Given the description of an element on the screen output the (x, y) to click on. 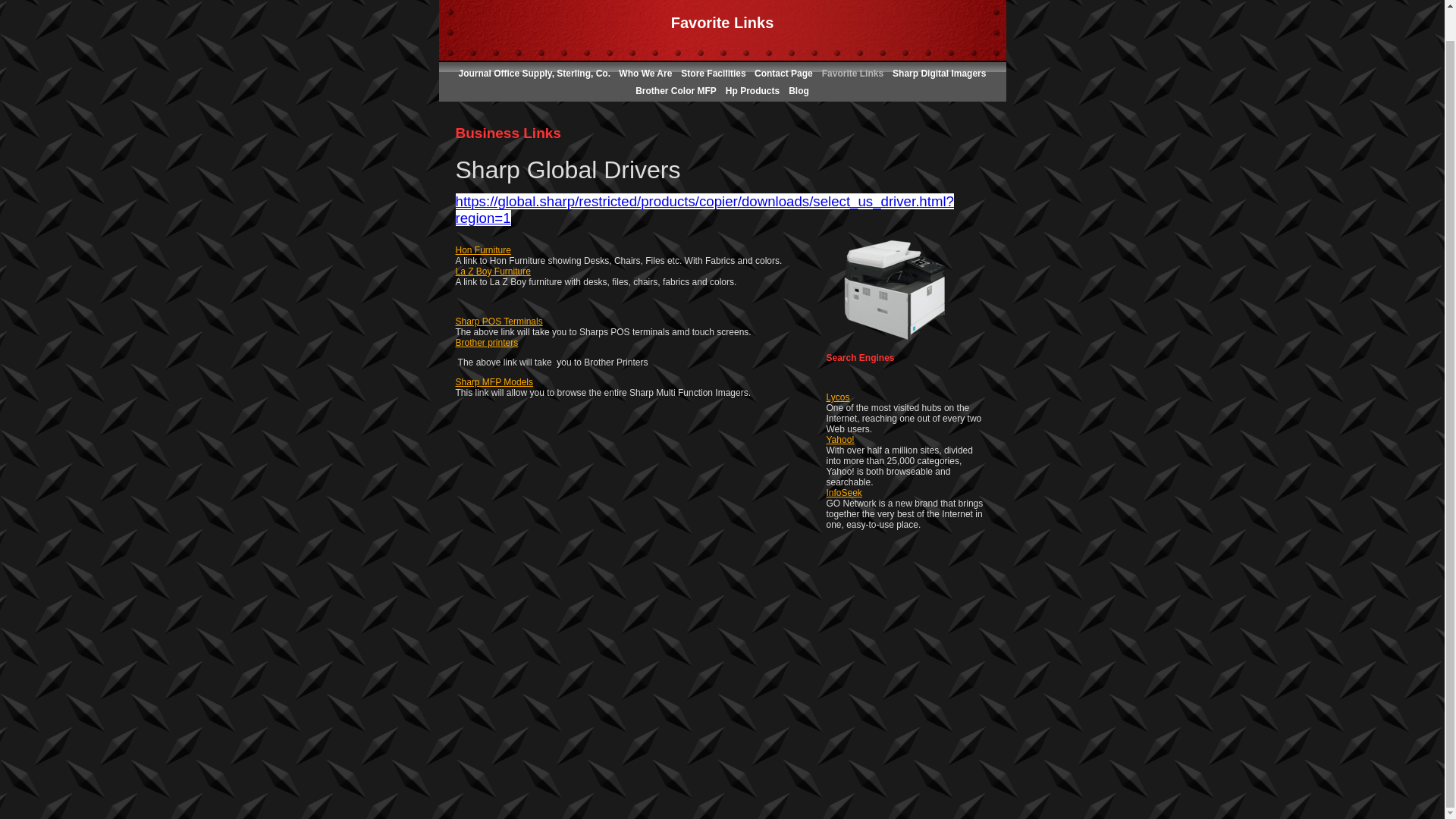
Store Facilities (714, 72)
Blog (799, 90)
Who We Are (645, 72)
La Z Boy Furniture (491, 271)
Sharp POS Terminals (497, 321)
Yahoo! (840, 439)
InfoSeek (844, 492)
Hon Furniture (482, 249)
Brother Color MFP (675, 90)
Hp Products (752, 90)
Contact Page (783, 72)
Favorite Links (852, 72)
Sharp Digital Imagers (938, 72)
Lycos (838, 397)
Journal Office Supply, Sterling, Co. (535, 72)
